Given the description of an element on the screen output the (x, y) to click on. 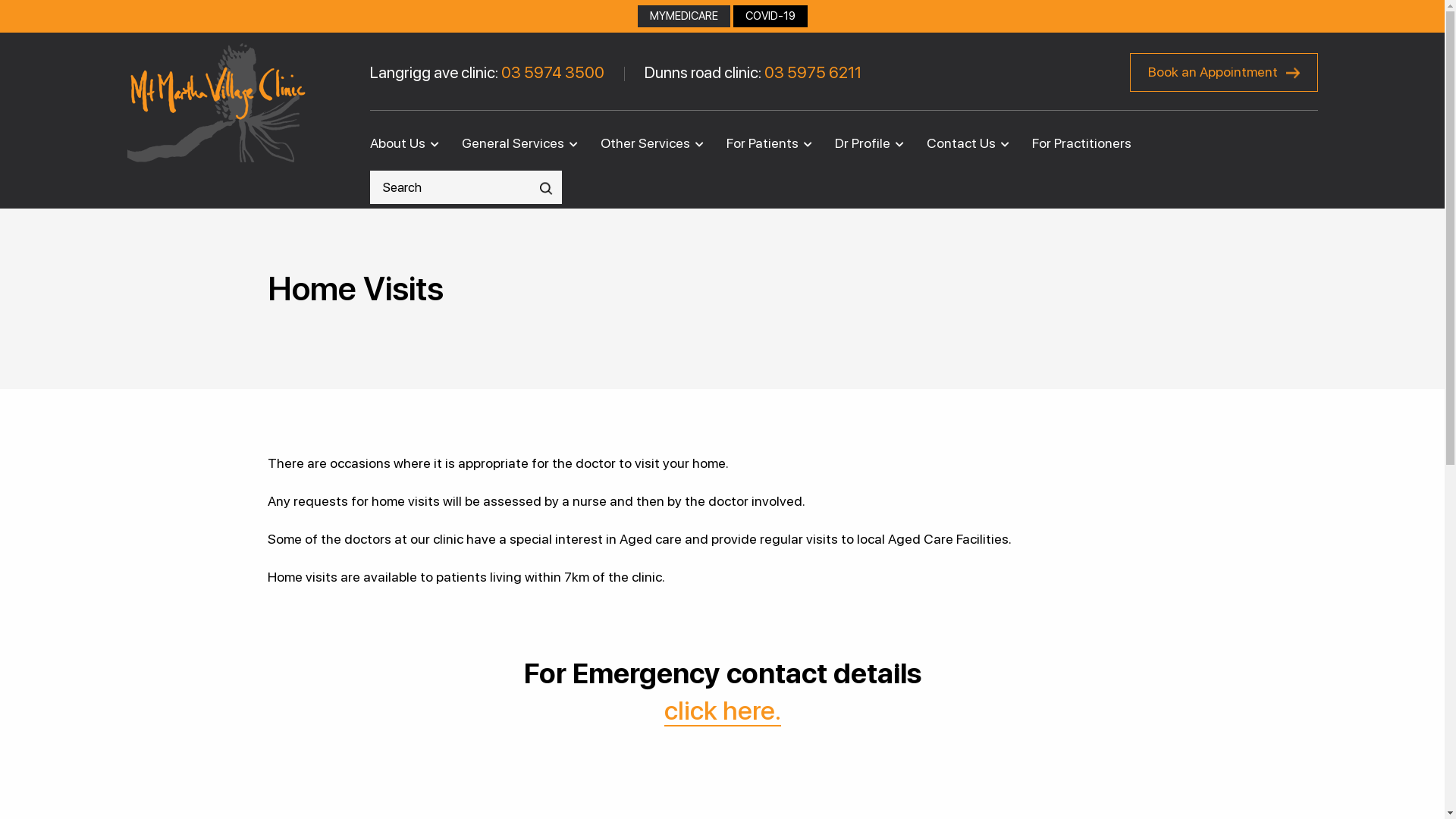
Dr Profile Element type: text (861, 142)
03 5975 6211 Element type: text (812, 71)
Other Services Element type: text (644, 142)
About Us Element type: text (406, 142)
Book an Appointment Element type: text (1223, 72)
Contact Us Element type: text (961, 142)
click here. Element type: text (722, 710)
03 5974 3500 Element type: text (551, 71)
General Services Element type: text (512, 142)
COVID-19 Element type: text (769, 16)
MYMEDICARE Element type: text (683, 16)
For Practitioners Element type: text (1080, 142)
For Patients Element type: text (762, 142)
